Given the description of an element on the screen output the (x, y) to click on. 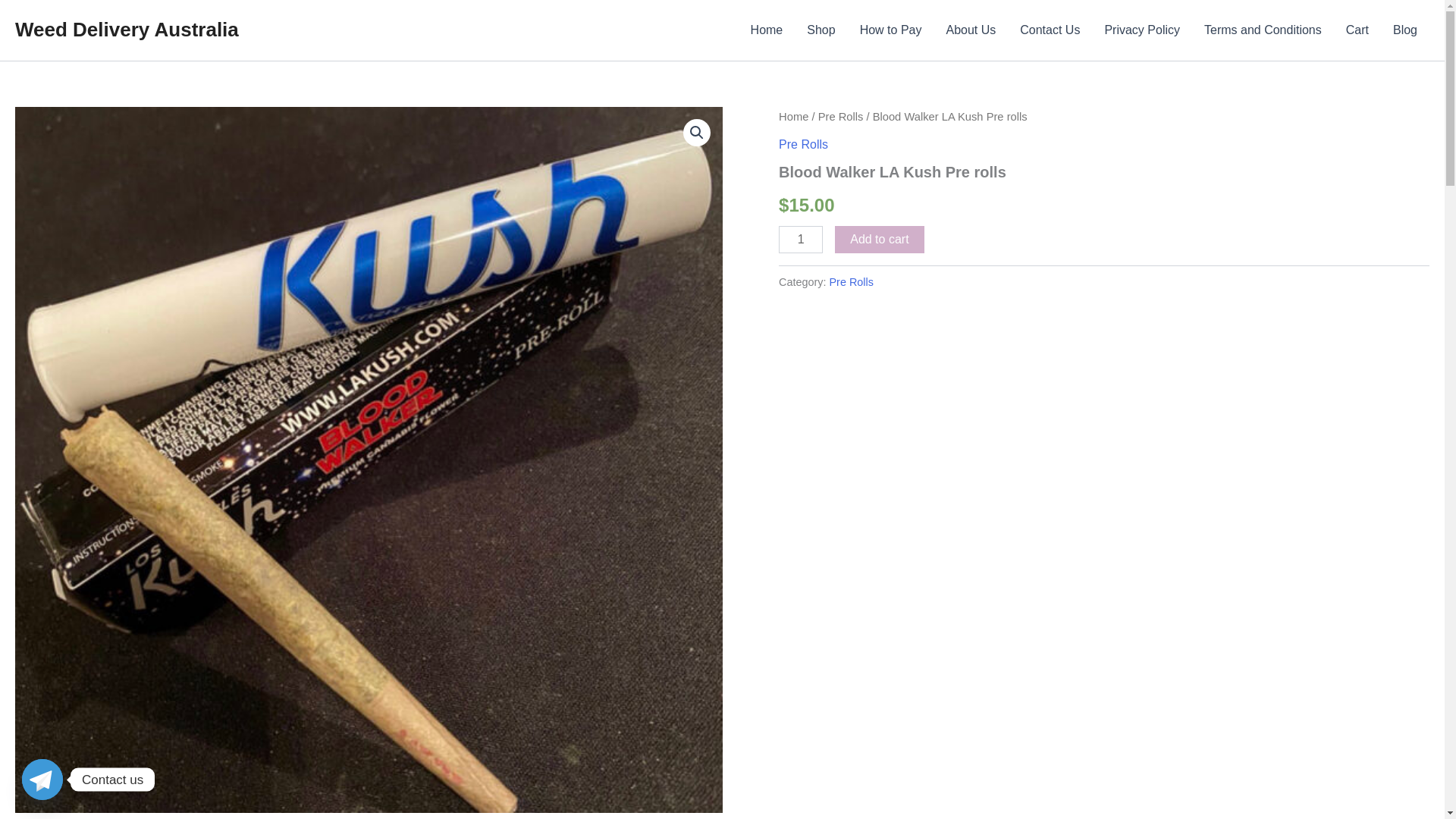
Privacy Policy (1142, 30)
Pre Rolls (840, 116)
Home (793, 116)
Pre Rolls (803, 144)
Terms and Conditions (1262, 30)
Contact Us (1049, 30)
Weed Delivery Australia (126, 29)
How to Pay (890, 30)
1 (800, 239)
Home (766, 30)
Add to cart (878, 239)
Pre Rolls (851, 282)
About Us (970, 30)
